Given the description of an element on the screen output the (x, y) to click on. 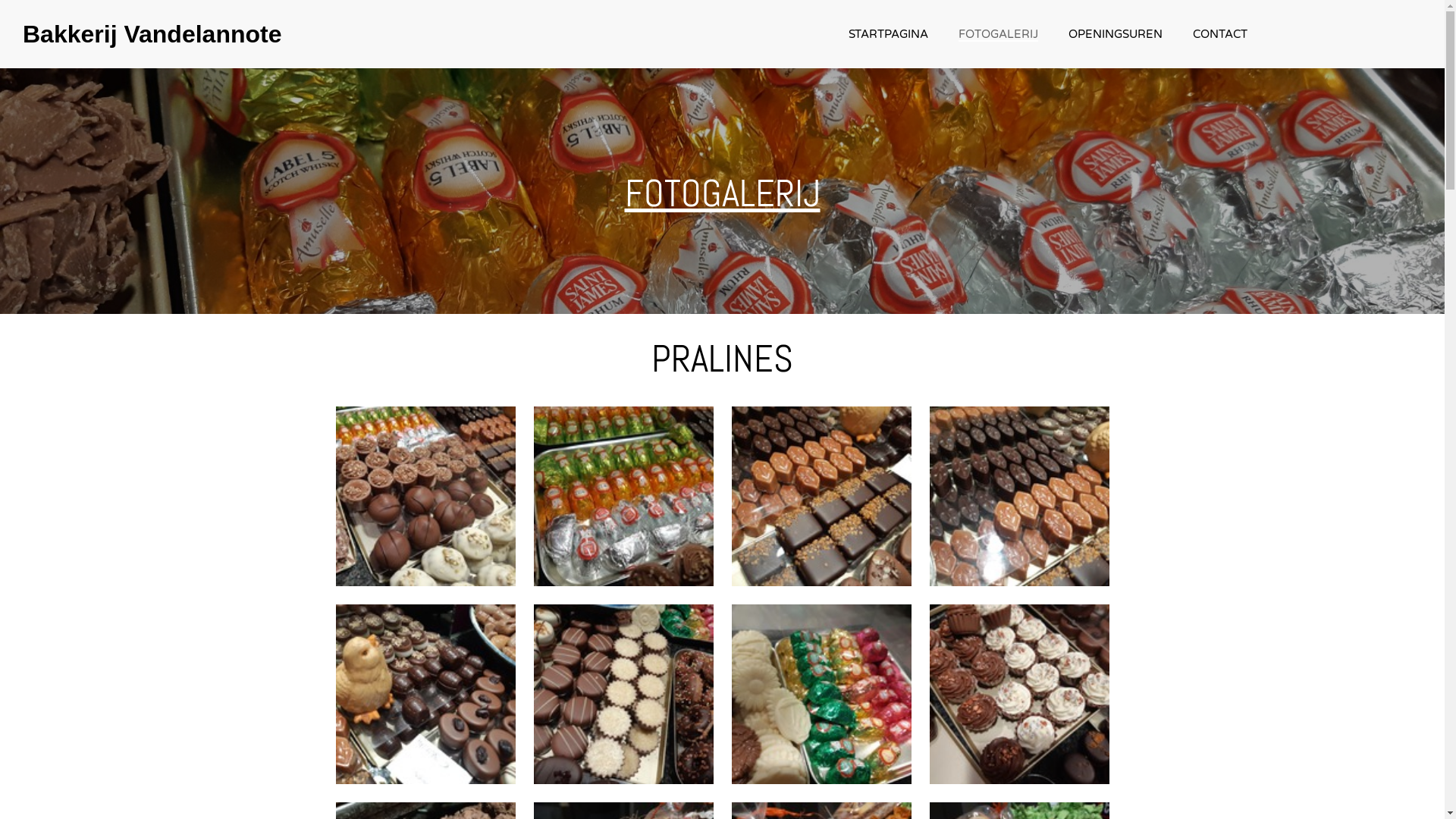
FOTOGALERIJ Element type: text (998, 33)
CONTACT Element type: text (1219, 33)
OPENINGSUREN Element type: text (1115, 33)
STARTPAGINA Element type: text (888, 33)
